Given the description of an element on the screen output the (x, y) to click on. 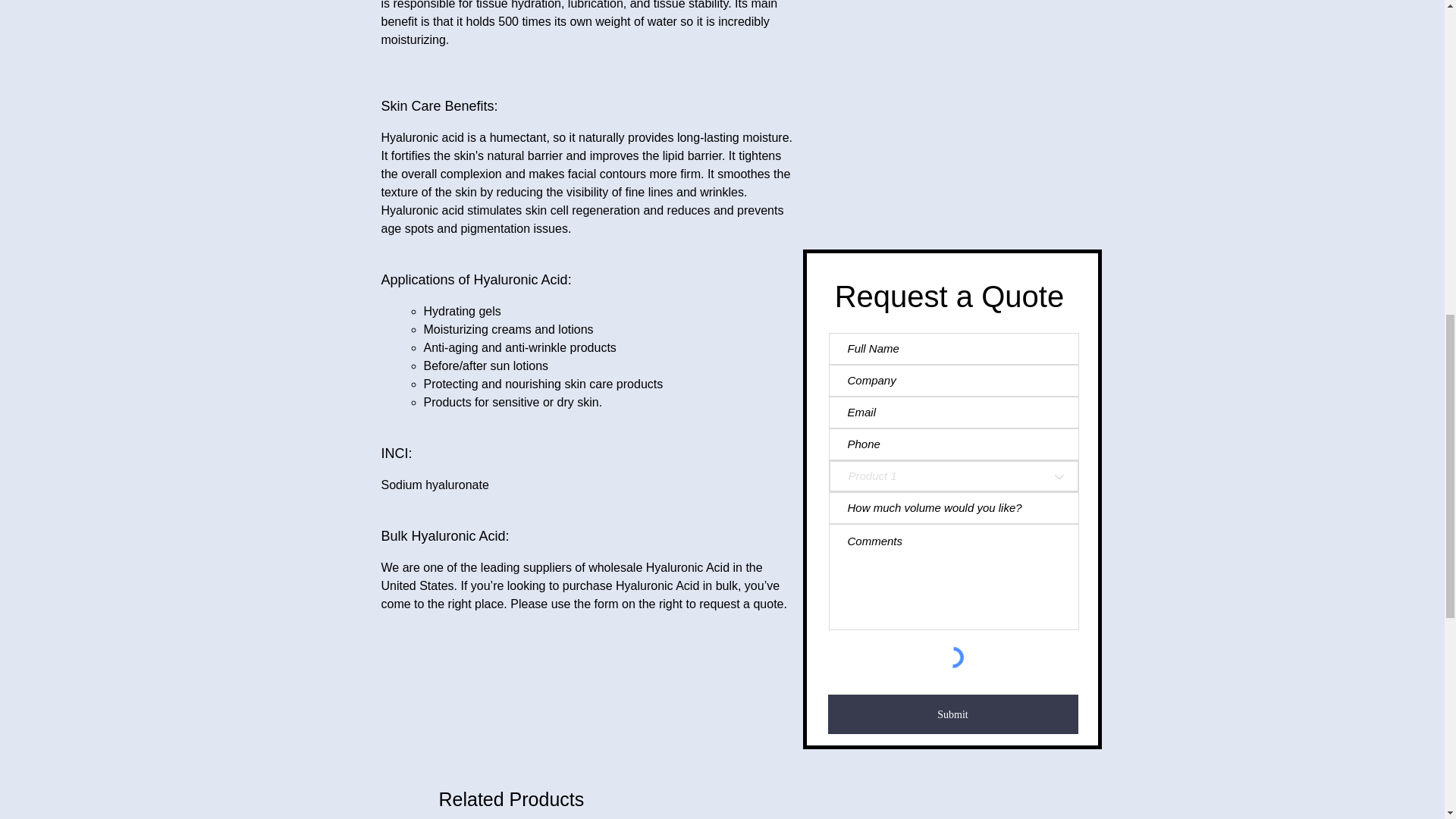
Submit (953, 713)
